Given the description of an element on the screen output the (x, y) to click on. 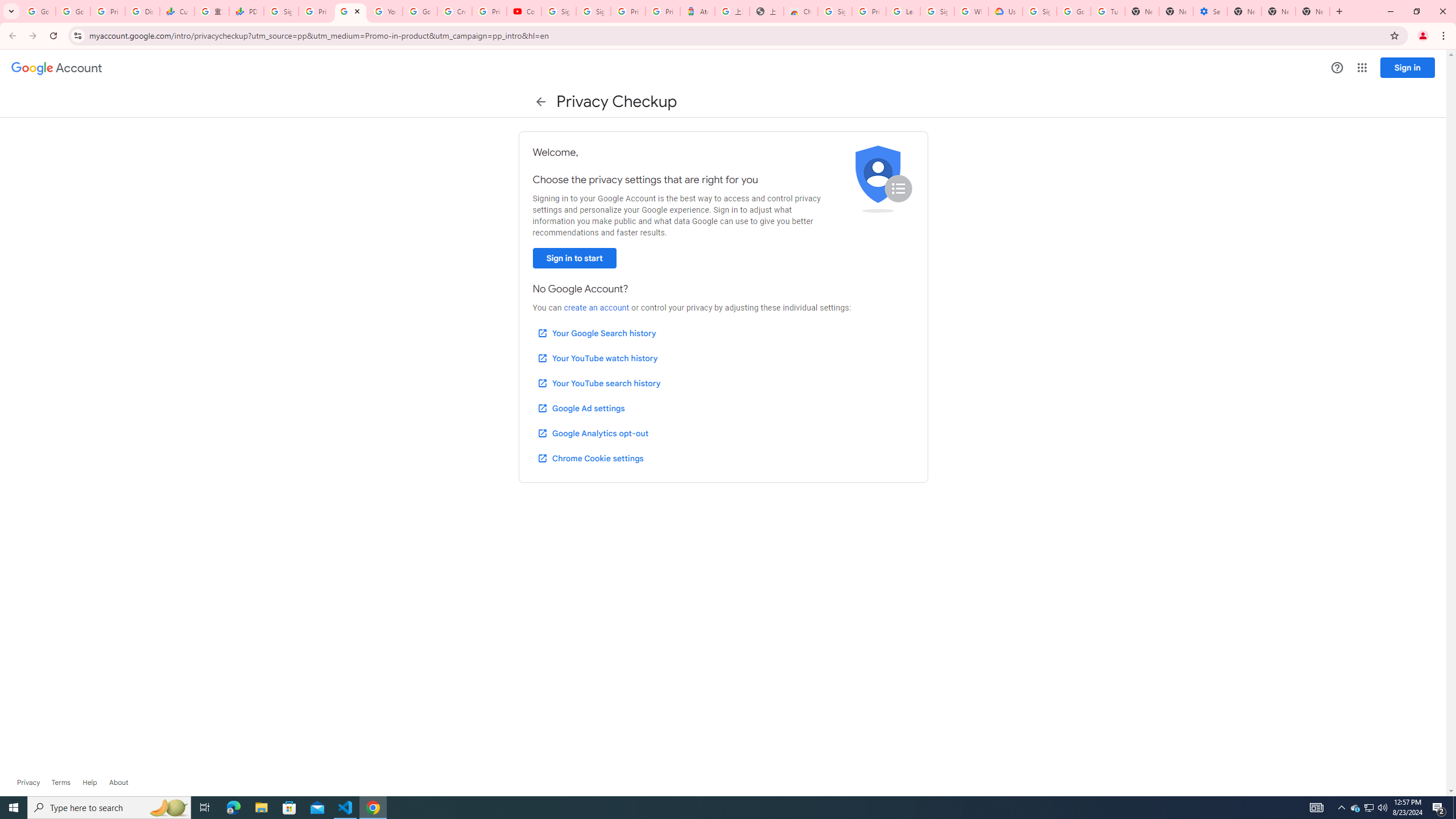
Sign in - Google Accounts (281, 11)
New Tab (1312, 11)
Your Google Search history (596, 332)
Privacy Checkup (349, 11)
Who are Google's partners? - Privacy and conditions - Google (970, 11)
